Given the description of an element on the screen output the (x, y) to click on. 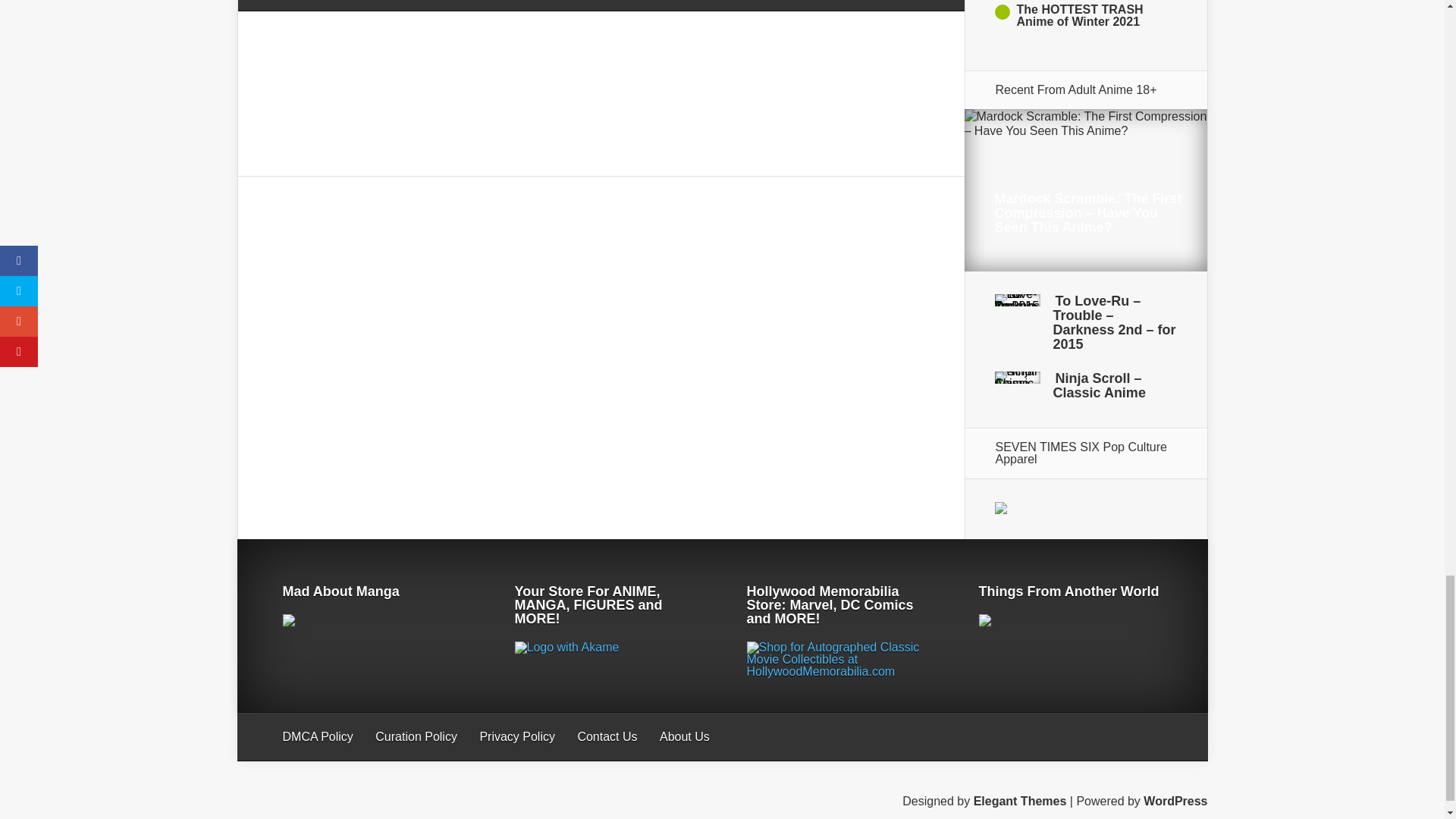
DMCA Policy (317, 736)
Premium WordPress Themes (1020, 800)
Next (1085, 59)
Next (1085, 59)
